Given the description of an element on the screen output the (x, y) to click on. 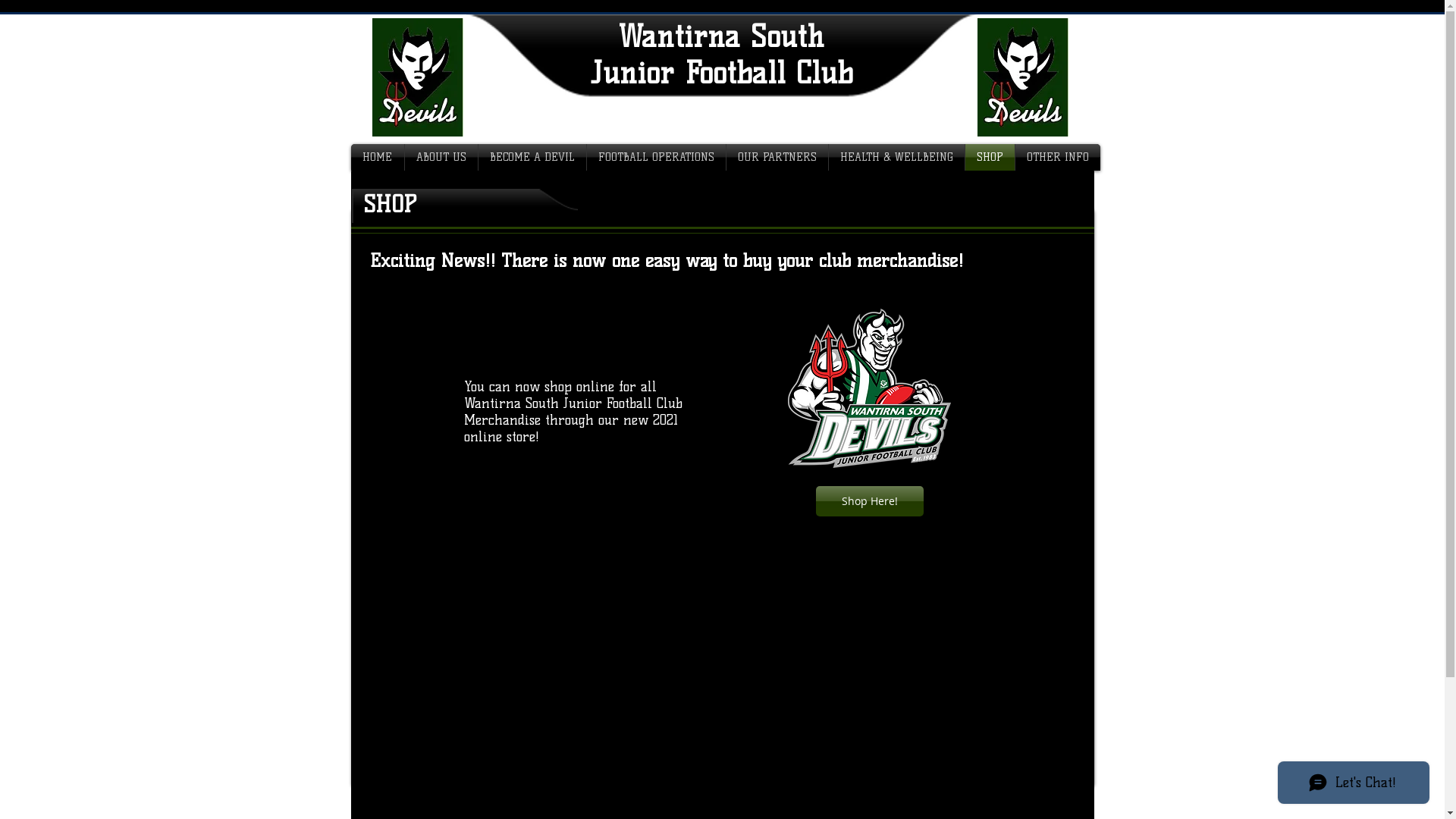
HOME Element type: text (376, 157)
BECOME A DEVIL Element type: text (531, 157)
Shop Here! Element type: text (869, 501)
SHOP Element type: text (988, 157)
Wantirna South Junior Football Club Element type: text (720, 54)
FOOTBALL OPERATIONS Element type: text (655, 157)
ABOUT US Element type: text (440, 157)
OUR PARTNERS Element type: text (777, 157)
HEALTH & WELLBEING Element type: text (895, 157)
